Given the description of an element on the screen output the (x, y) to click on. 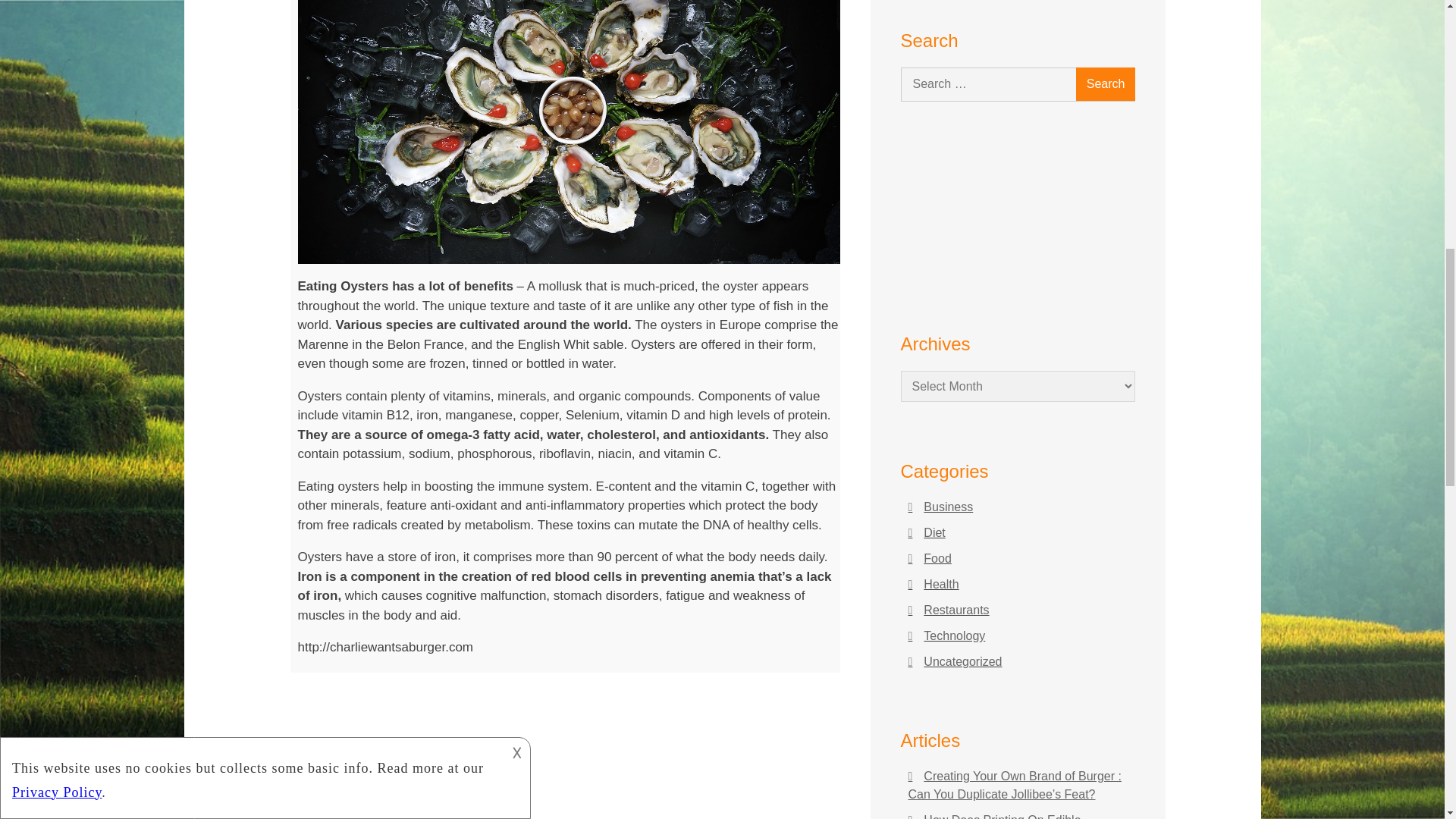
Search (1105, 83)
Health (933, 584)
Food (930, 558)
Search (1105, 83)
Business (941, 506)
Technology (946, 635)
Restaurants (949, 609)
Diet (926, 532)
Uncategorized (955, 661)
Search (1105, 83)
